Given the description of an element on the screen output the (x, y) to click on. 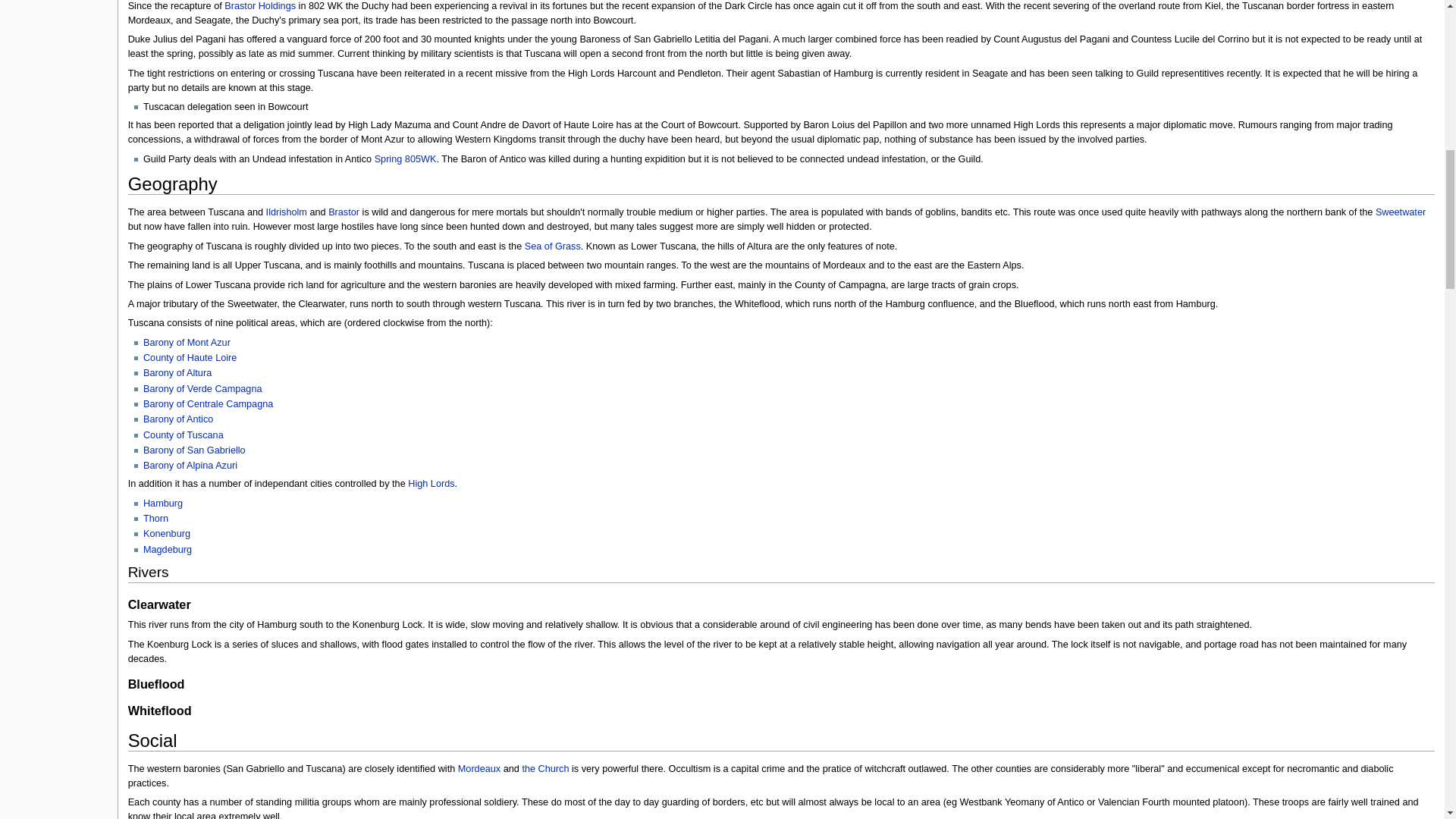
Spring 805WK (405, 158)
Ildrisholm (286, 212)
Sweetwater (1400, 212)
Barony of Mont Azur (186, 342)
Brastor (344, 212)
County of Haute Loire (188, 357)
Under the Tuscan Sun (405, 158)
Ildrisholm (286, 212)
Sea of Grass (552, 245)
Brastor Holdings (259, 5)
Barony of Altura (176, 372)
Brastor (259, 5)
Sweetwater (1400, 212)
Brastor (344, 212)
